Given the description of an element on the screen output the (x, y) to click on. 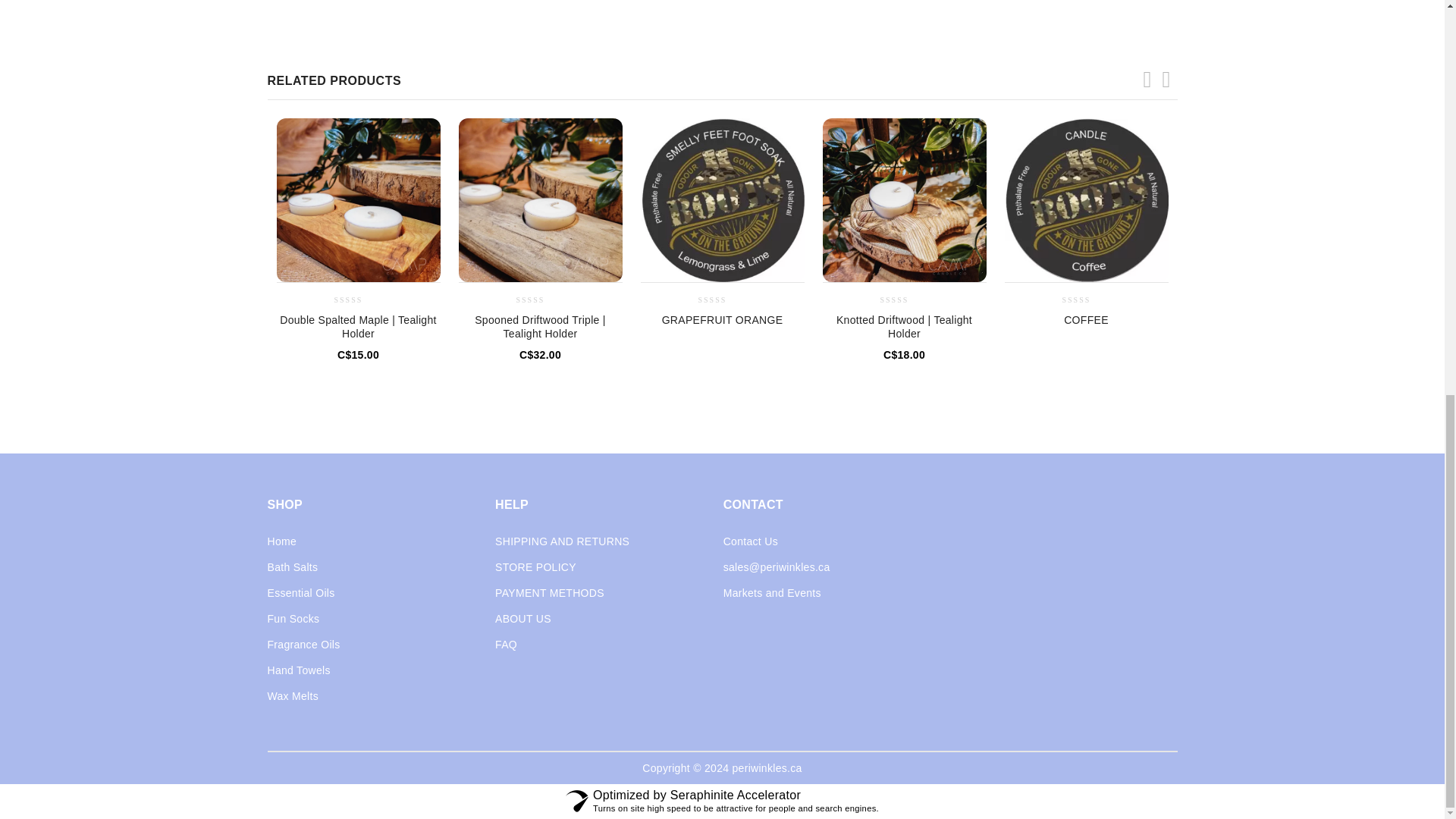
Not yet rated (903, 299)
Not yet rated (539, 299)
Not yet rated (357, 299)
Not yet rated (1085, 299)
Not yet rated (721, 299)
